Given the description of an element on the screen output the (x, y) to click on. 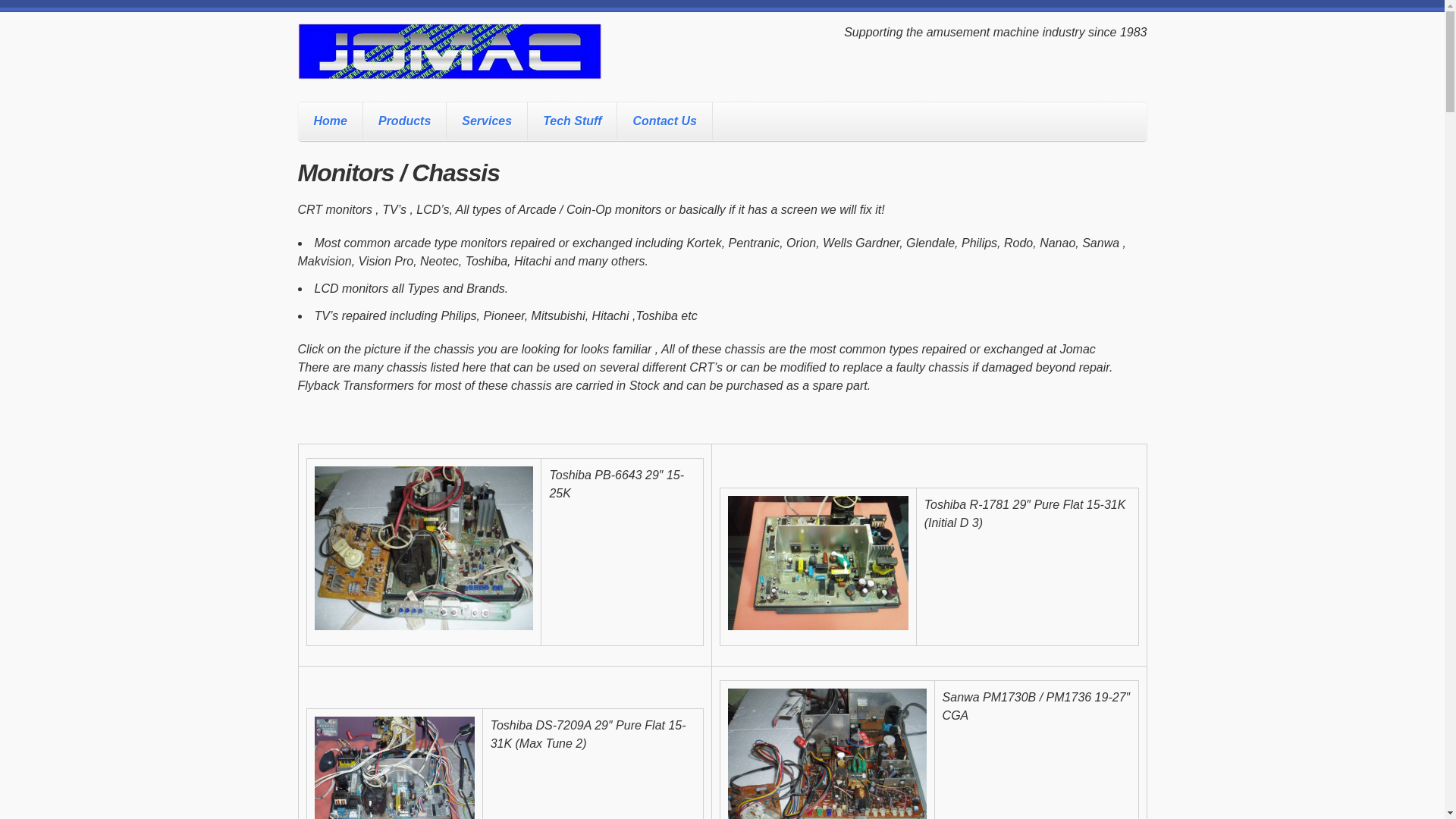
Products Element type: text (404, 121)
Tech Stuff Element type: text (571, 121)
Services Element type: text (486, 121)
Contact Us Element type: text (664, 121)
Jomac Element type: hover (448, 64)
Home Element type: text (330, 121)
